Given the description of an element on the screen output the (x, y) to click on. 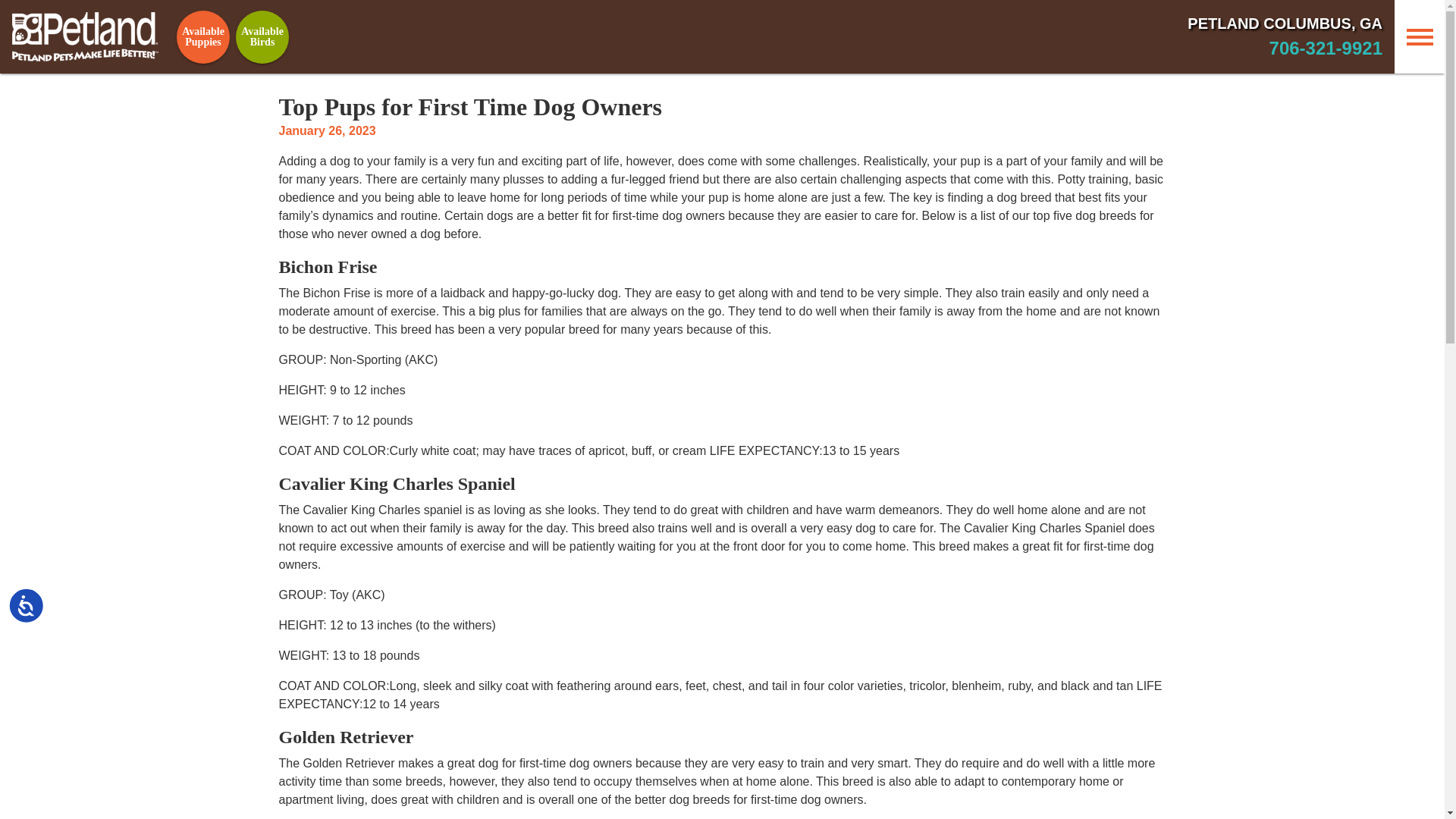
Accessibility (41, 621)
706-321-9921 (1325, 47)
Available Birds (261, 36)
